Given the description of an element on the screen output the (x, y) to click on. 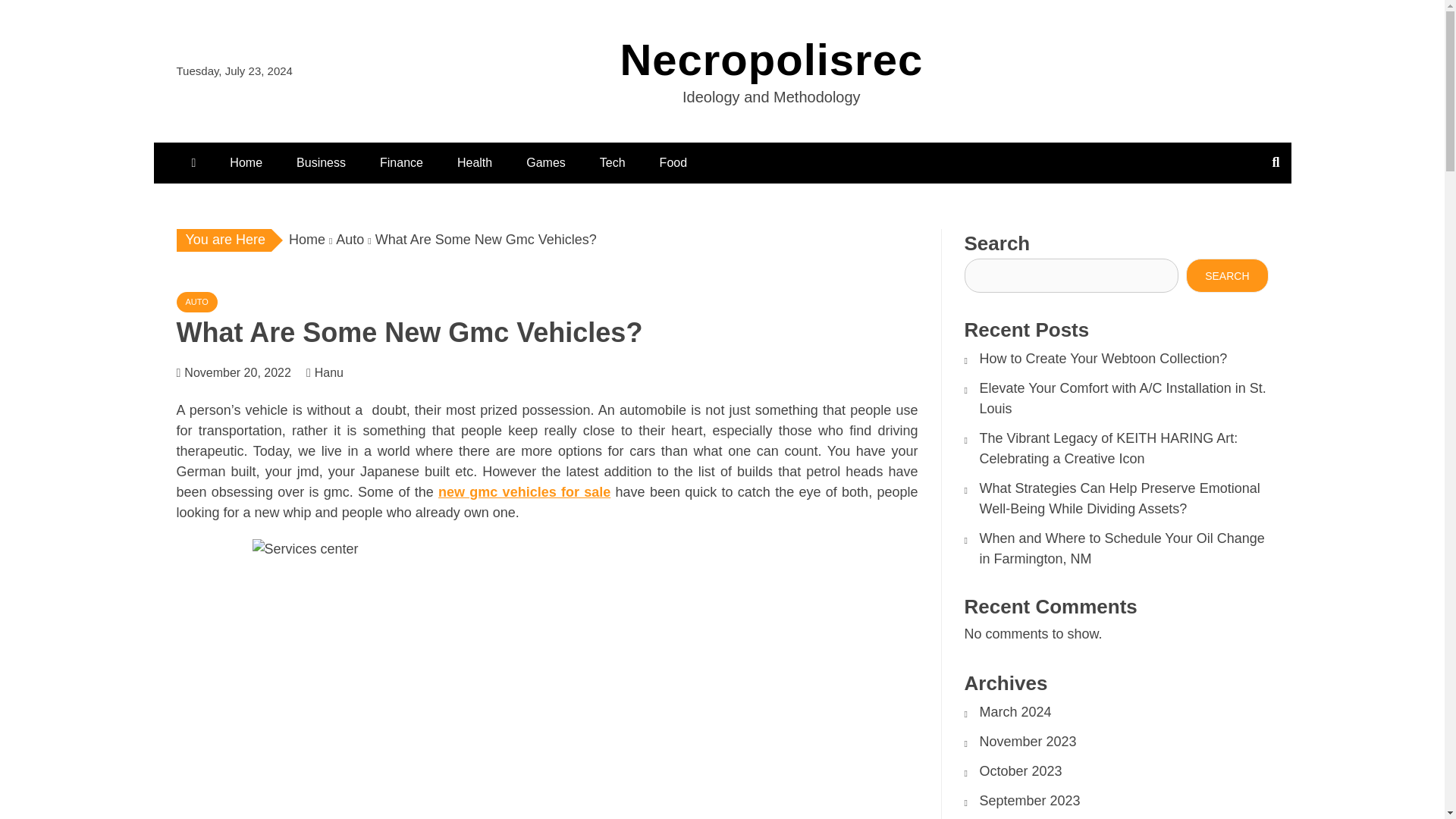
Tech (612, 162)
Necropolisrec (771, 59)
Food (673, 162)
Home (246, 162)
Auto (350, 239)
Business (321, 162)
Games (545, 162)
AUTO (196, 301)
November 20, 2022 (237, 372)
Home (306, 239)
Finance (401, 162)
Hanu (336, 372)
SEARCH (1227, 275)
